Given the description of an element on the screen output the (x, y) to click on. 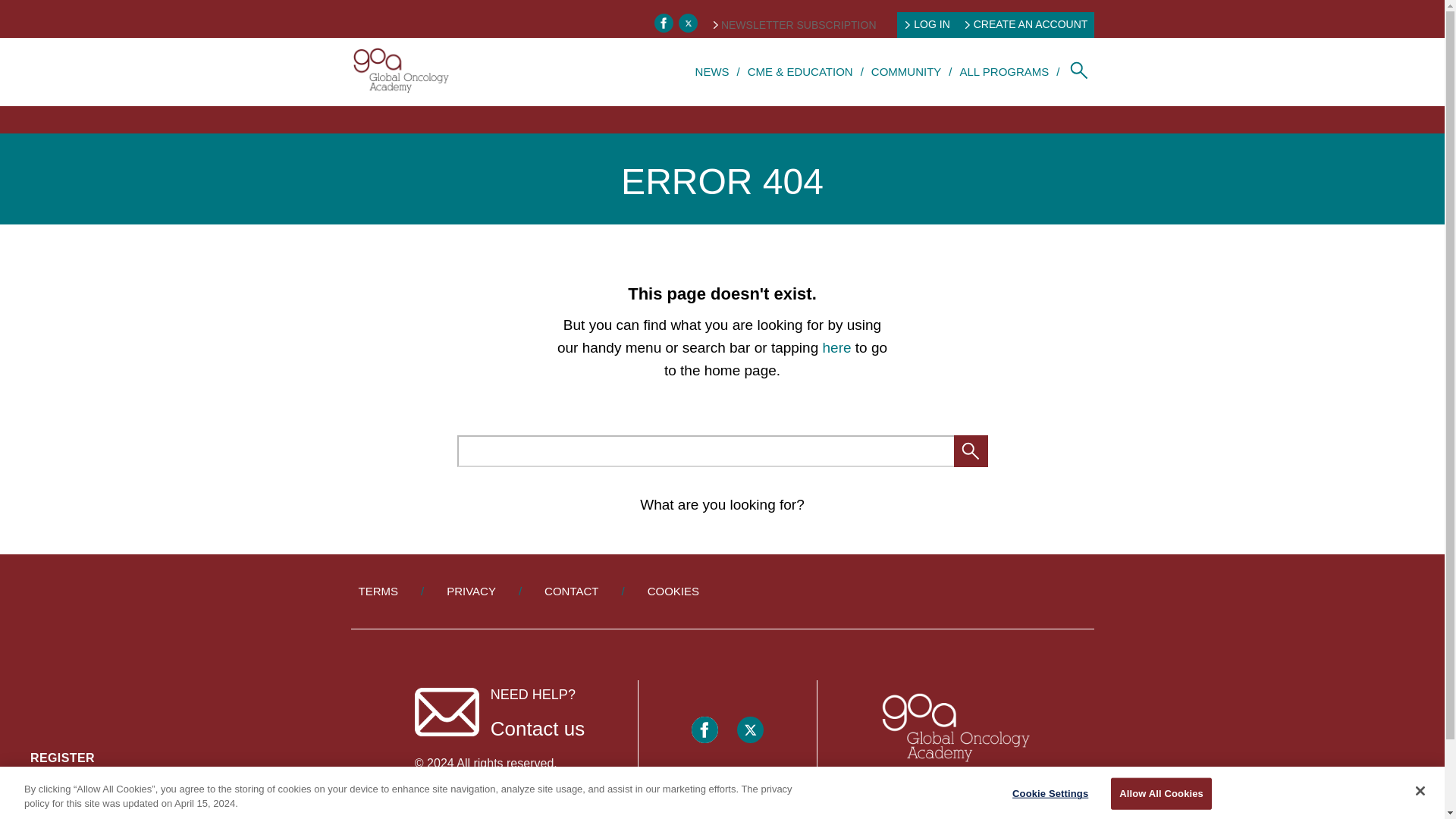
Twitter (749, 729)
LOG IN (927, 24)
Share Program (68, 795)
CREATE AN ACCOUNT (1026, 24)
Global Oncology Academy (953, 728)
NEWS (712, 71)
Global Oncology Academy (953, 730)
Global Oncology Academy (399, 71)
COMMUNITY (905, 71)
ALL PROGRAMS (1004, 71)
Twitter (687, 22)
NEWSLETTER SUBSCRIPTION (794, 24)
